Given the description of an element on the screen output the (x, y) to click on. 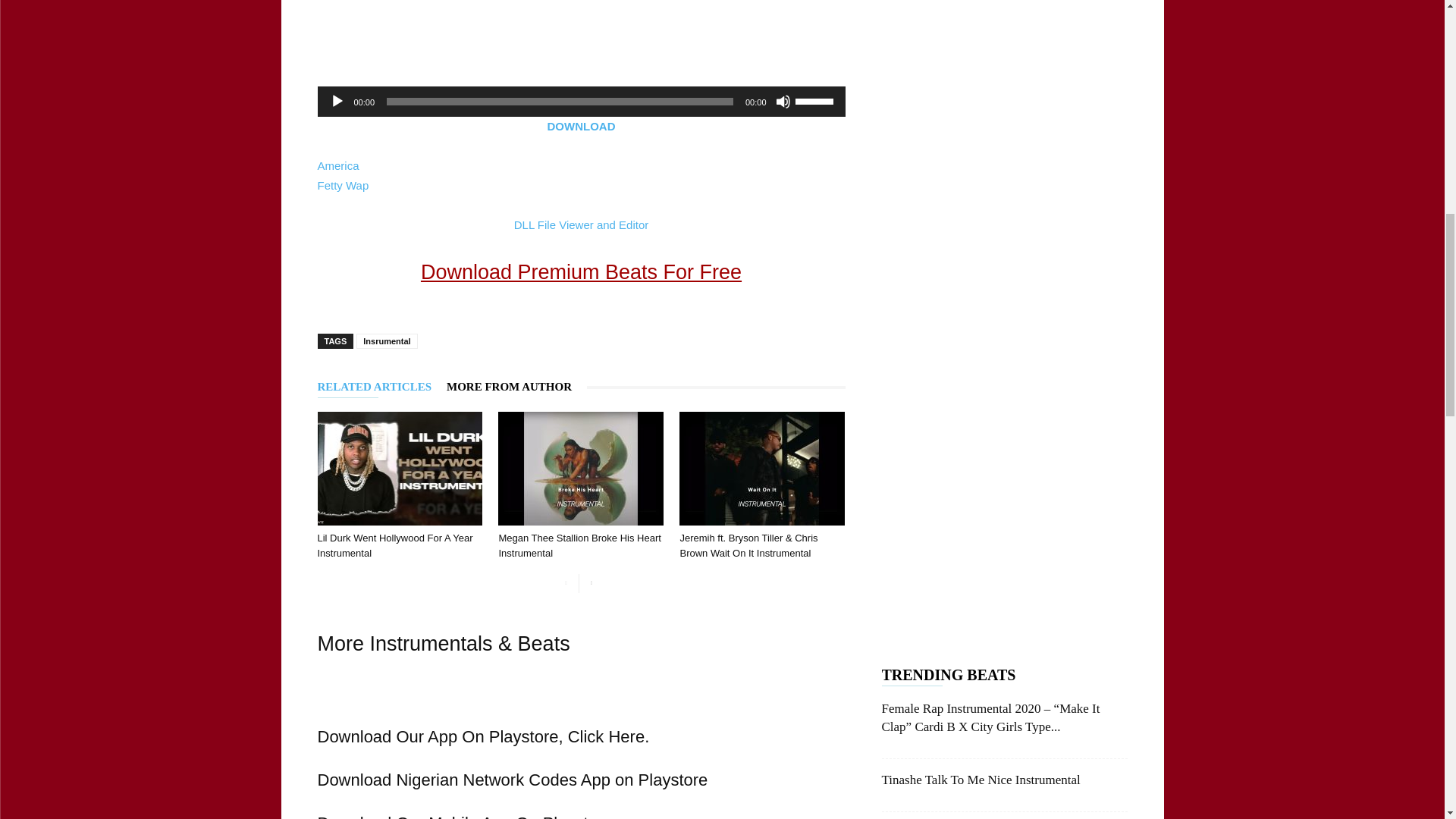
Lil Durk Went Hollywood For A Year Instrumental (399, 468)
Mute (782, 101)
Play (336, 101)
